Given the description of an element on the screen output the (x, y) to click on. 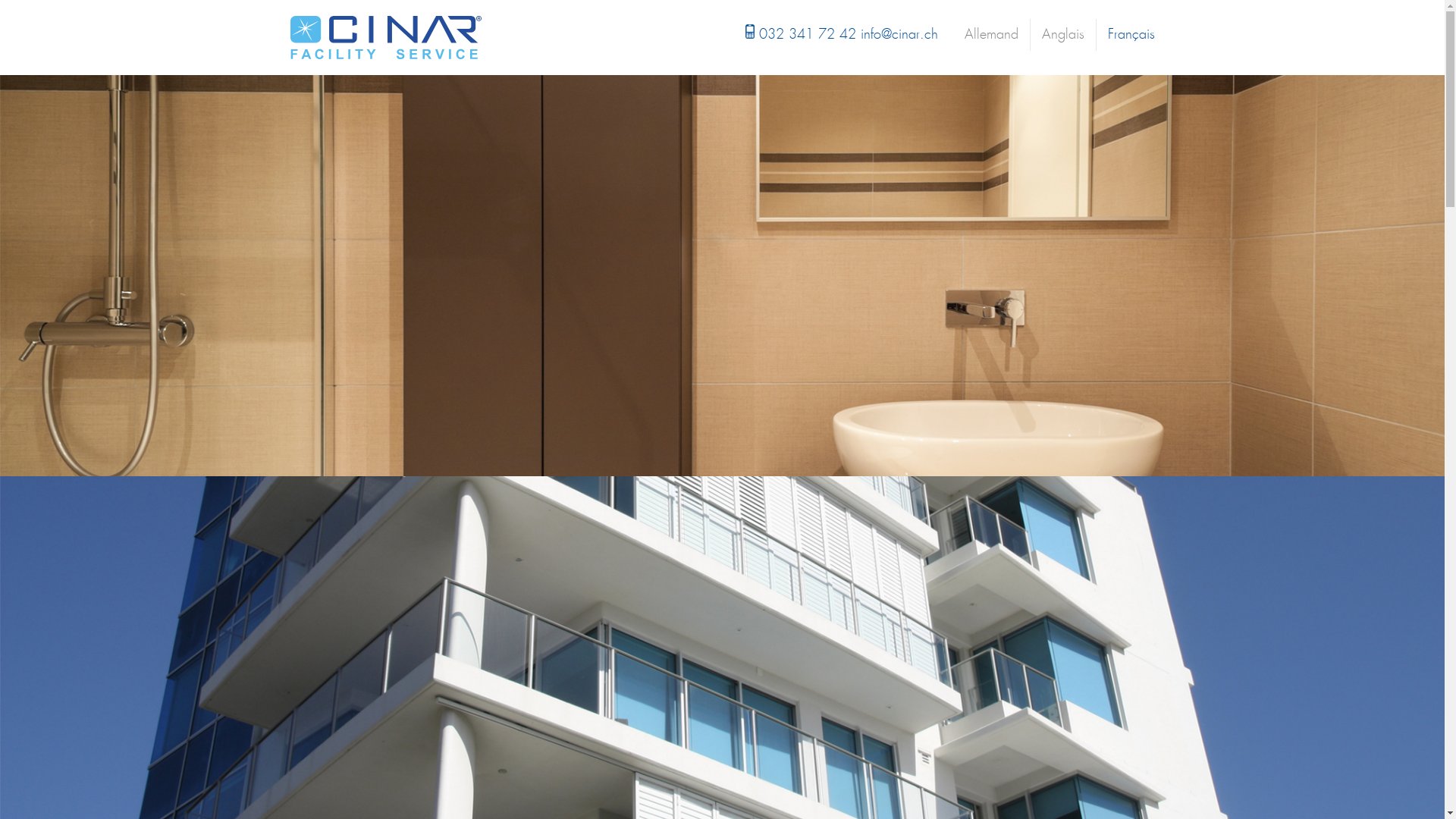
Allemand Element type: text (991, 34)
CINAR Element type: hover (384, 37)
032 341 72 42 Element type: text (808, 34)
Anglais Element type: text (1062, 34)
info@cinar.ch Element type: text (898, 34)
CINAR Element type: hover (384, 37)
